Given the description of an element on the screen output the (x, y) to click on. 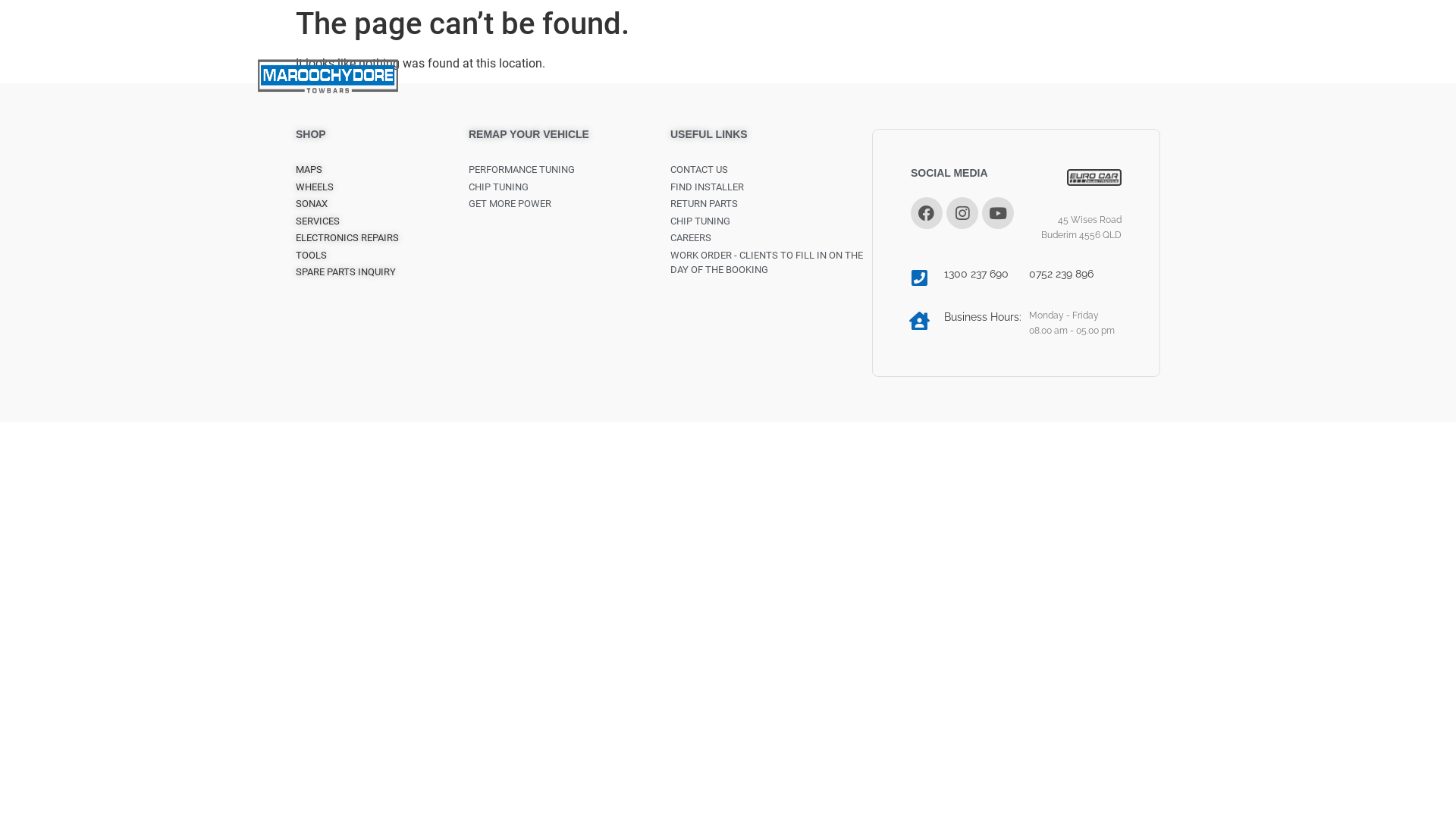
SPARE PARTS INQUIRY Element type: text (381, 271)
WIRING KITS Element type: text (536, 75)
CAREERS Element type: text (771, 237)
BIKE RACKS Element type: text (627, 75)
CHIP TUNING Element type: text (569, 186)
FIND INSTALLER Element type: text (771, 186)
CONTACT US Element type: text (771, 169)
TOWBAR Element type: text (453, 75)
GET MORE POWER Element type: text (569, 203)
CONTACT US Element type: text (824, 75)
SONAX Element type: text (381, 203)
0752 239 896 Element type: text (1061, 273)
0752 229 896 Element type: text (1025, 75)
RETURN PARTS Element type: text (771, 203)
CHIP TUNING Element type: text (771, 221)
PERFORMANCE TUNING Element type: text (569, 169)
TOOLS Element type: text (381, 255)
PERFORMANCE Element type: text (724, 75)
MAPS Element type: text (381, 169)
ELECTRONICS REPAIRS Element type: text (381, 237)
WORK ORDER - CLIENTS TO FILL IN ON THE DAY OF THE BOOKING Element type: text (771, 262)
WHEELS Element type: text (381, 186)
1300 237 690 Element type: text (976, 273)
SERVICES Element type: text (381, 221)
